Given the description of an element on the screen output the (x, y) to click on. 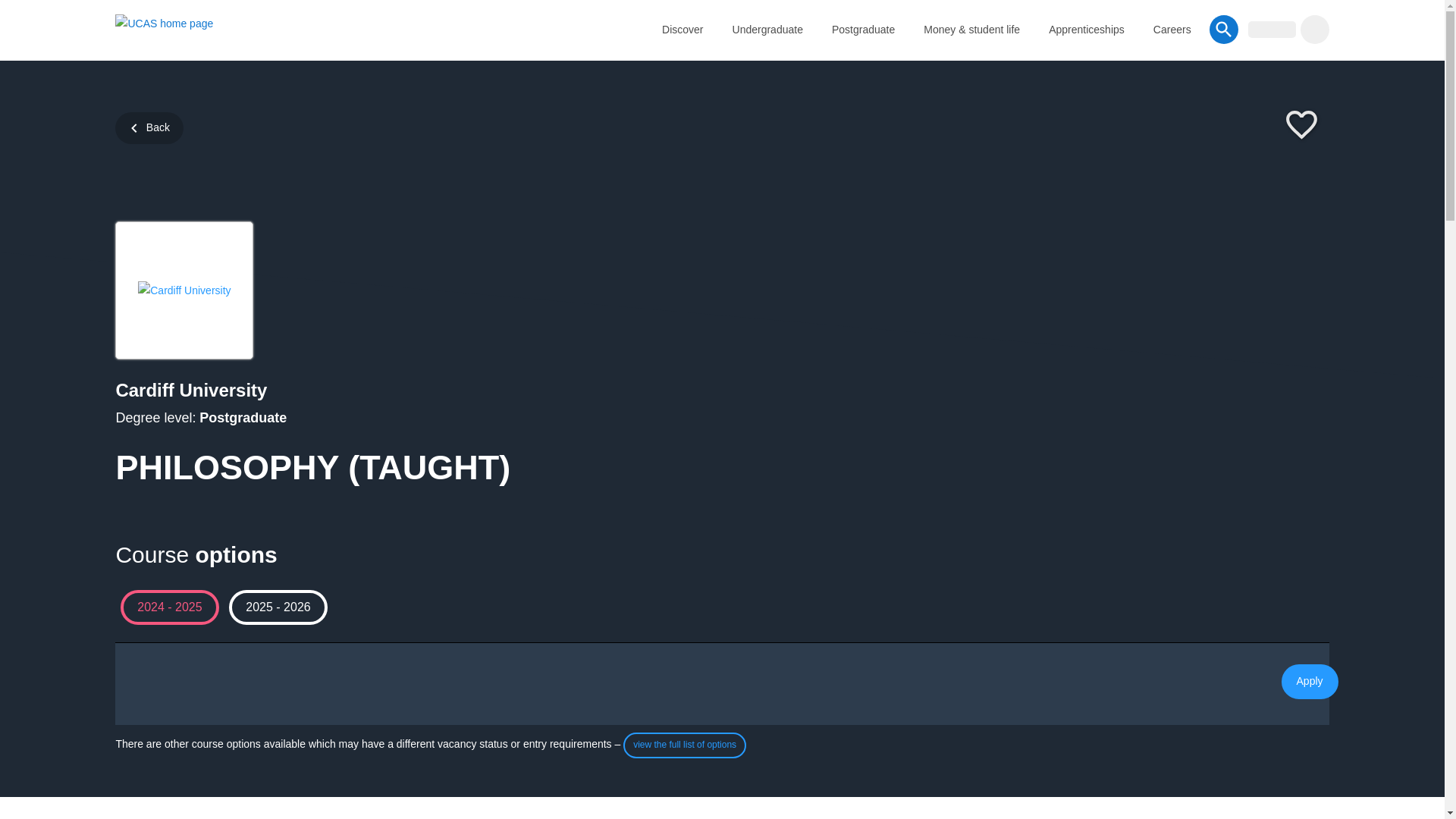
Discover (682, 29)
Undergraduate (767, 29)
Back to previous page (149, 128)
Add option to favourites (1301, 125)
